Given the description of an element on the screen output the (x, y) to click on. 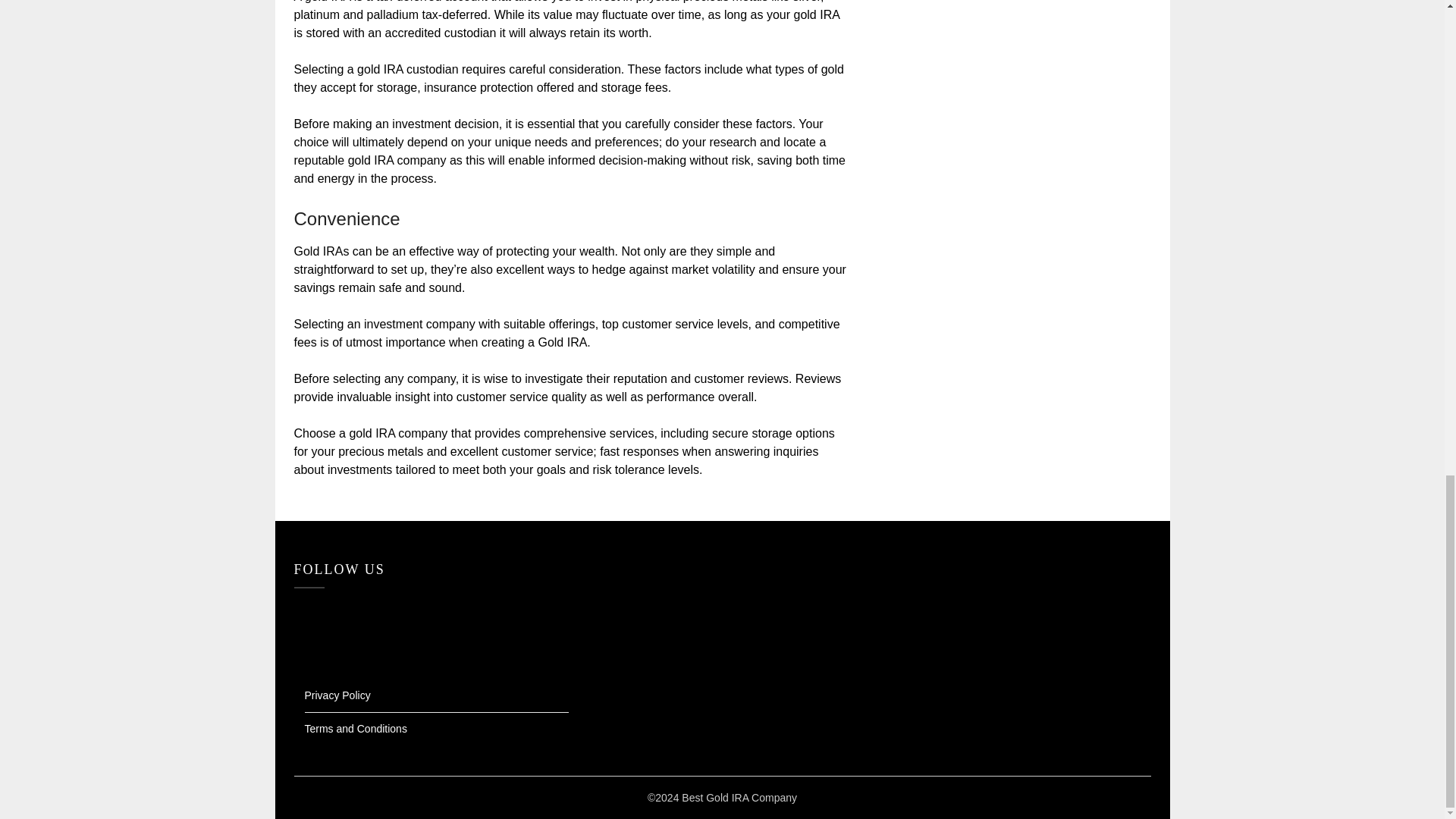
Terms and Conditions (355, 728)
Privacy Policy (337, 695)
